Given the description of an element on the screen output the (x, y) to click on. 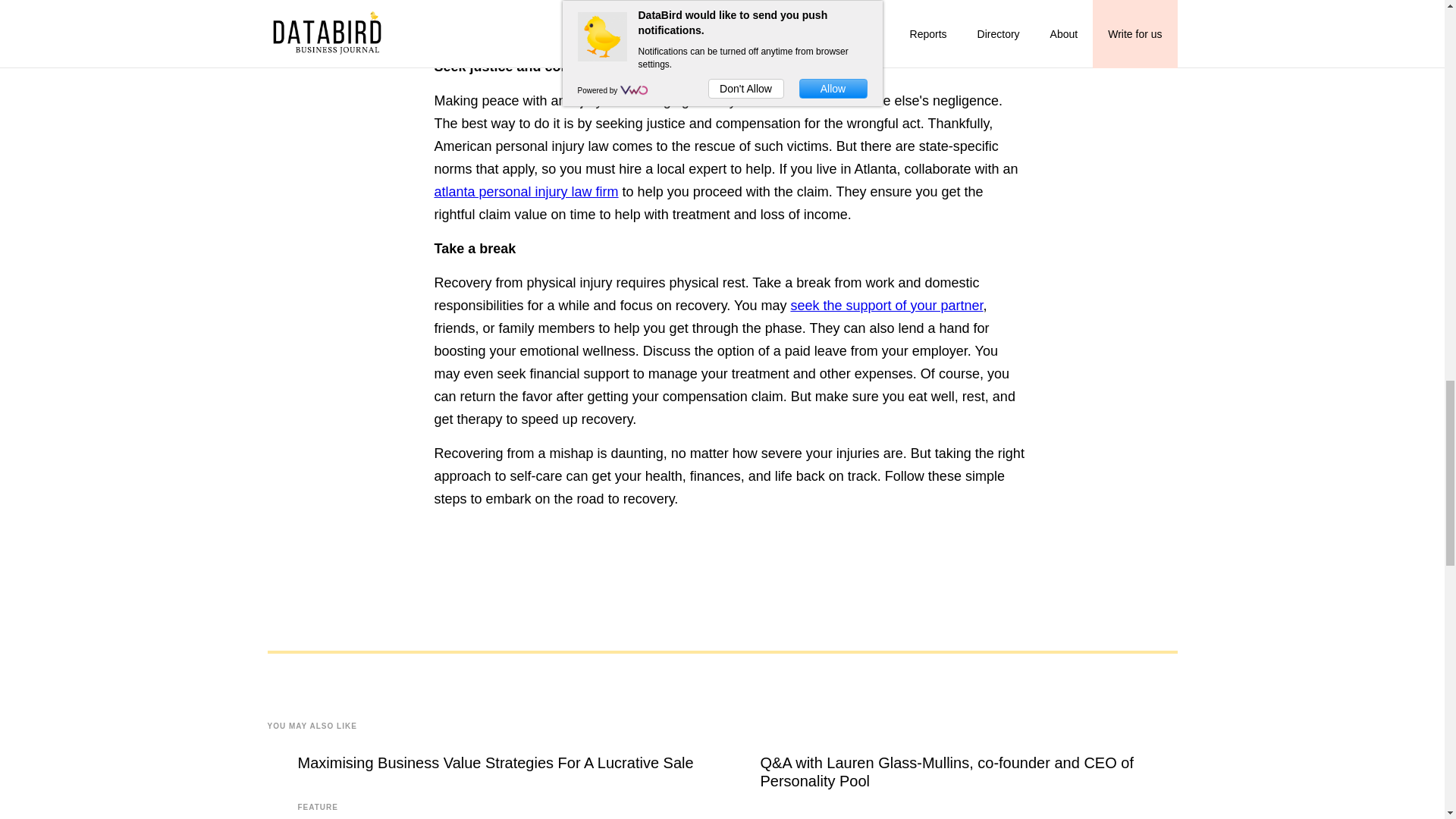
seek the support of your partner (886, 305)
INTERVIEWS (786, 816)
atlanta personal injury law firm (525, 191)
Maximising Business Value Strategies For A Lucrative Sale (495, 762)
FEATURE (317, 807)
